Given the description of an element on the screen output the (x, y) to click on. 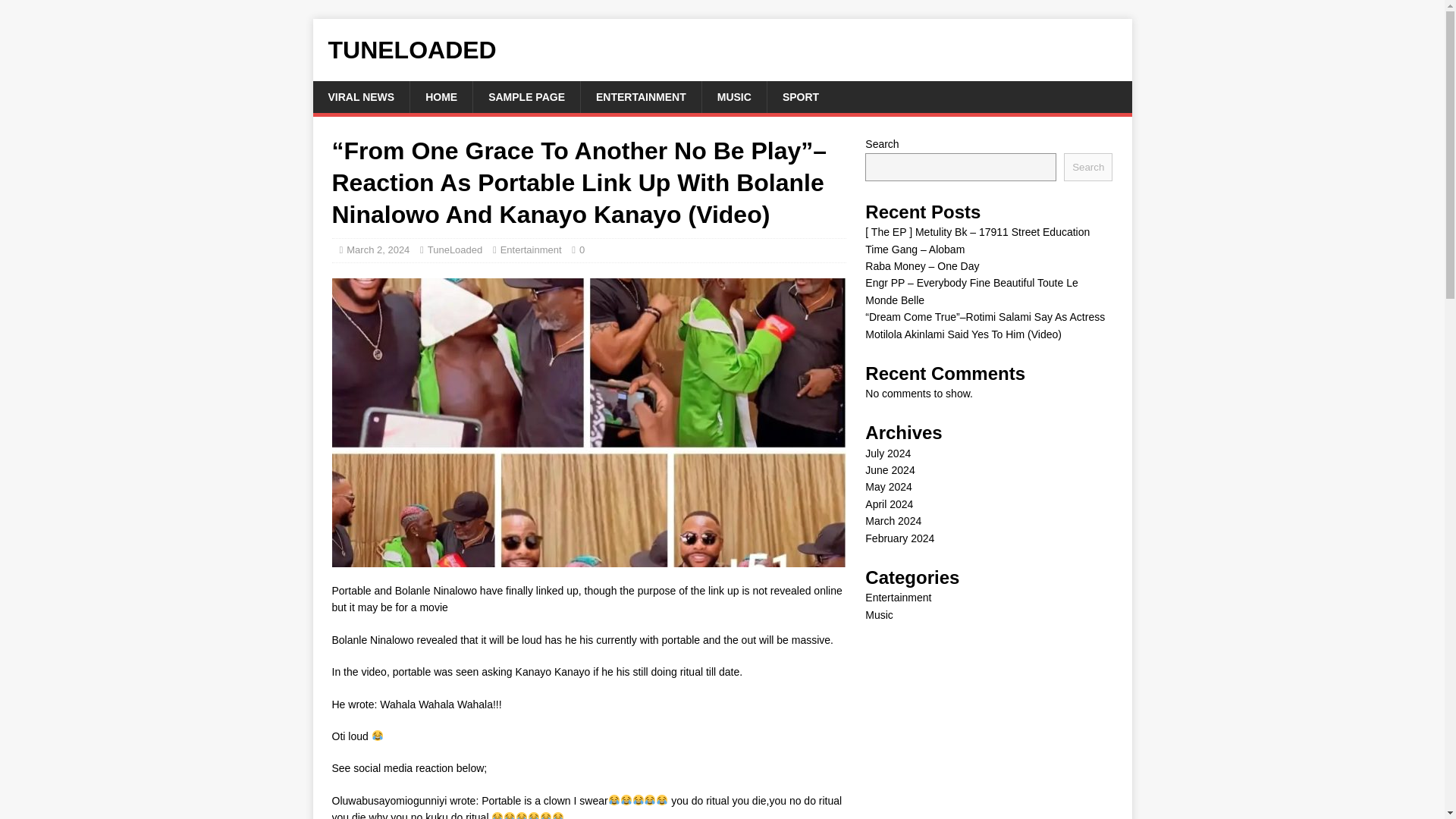
TuneLoaded (455, 249)
VIRAL NEWS (361, 97)
Entertainment (531, 249)
Search (1088, 166)
SPORT (800, 97)
March 2024 (892, 521)
February 2024 (899, 538)
MUSIC (734, 97)
July 2024 (887, 453)
May 2024 (887, 486)
April 2024 (888, 503)
ENTERTAINMENT (640, 97)
June 2024 (889, 469)
Music (878, 614)
March 2, 2024 (377, 249)
